Given the description of an element on the screen output the (x, y) to click on. 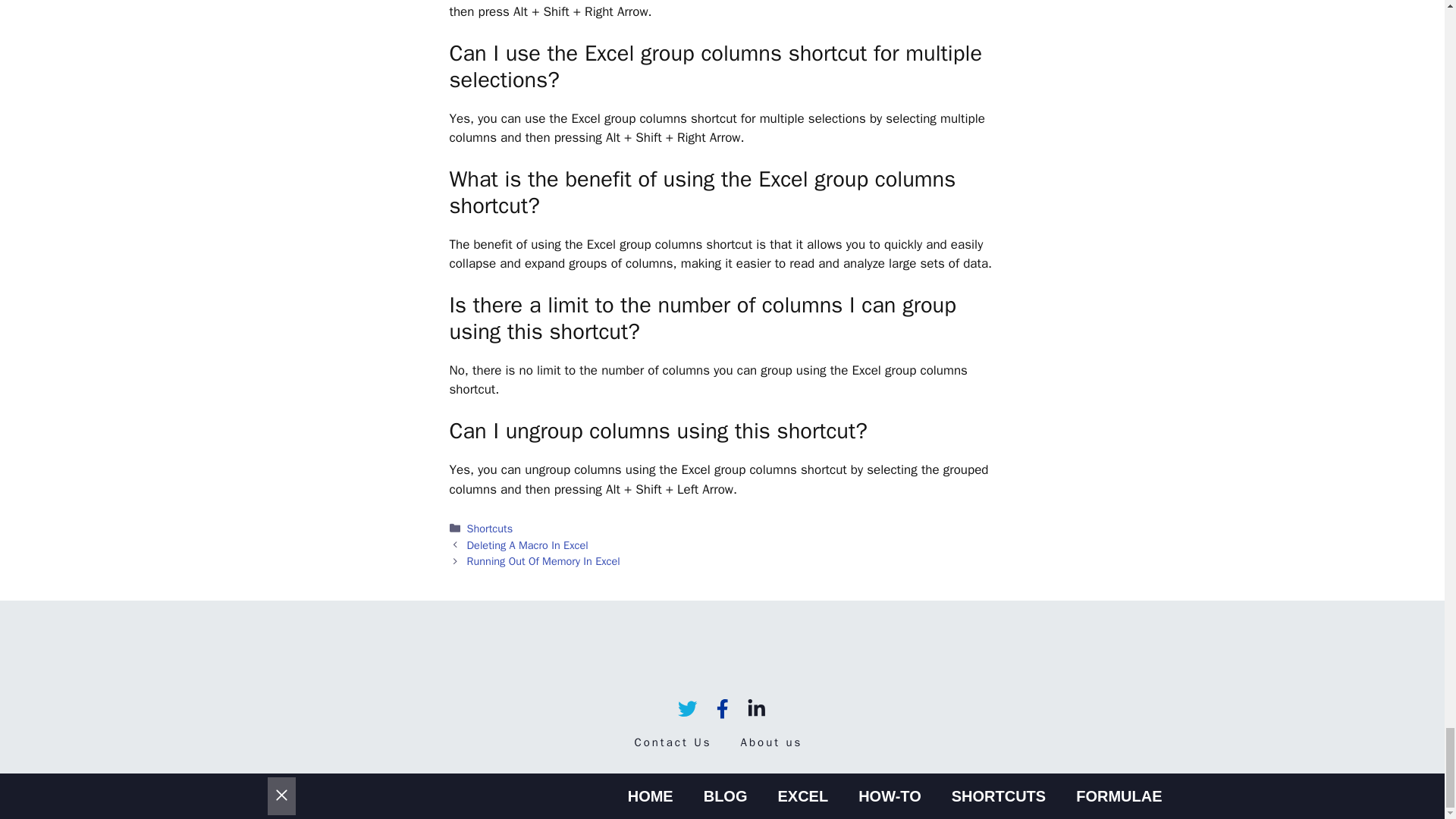
About us (772, 742)
Deleting A Macro In Excel (527, 545)
Running Out Of Memory In Excel (543, 561)
Shortcuts (490, 528)
Contact Us (672, 742)
Close (280, 796)
